Given the description of an element on the screen output the (x, y) to click on. 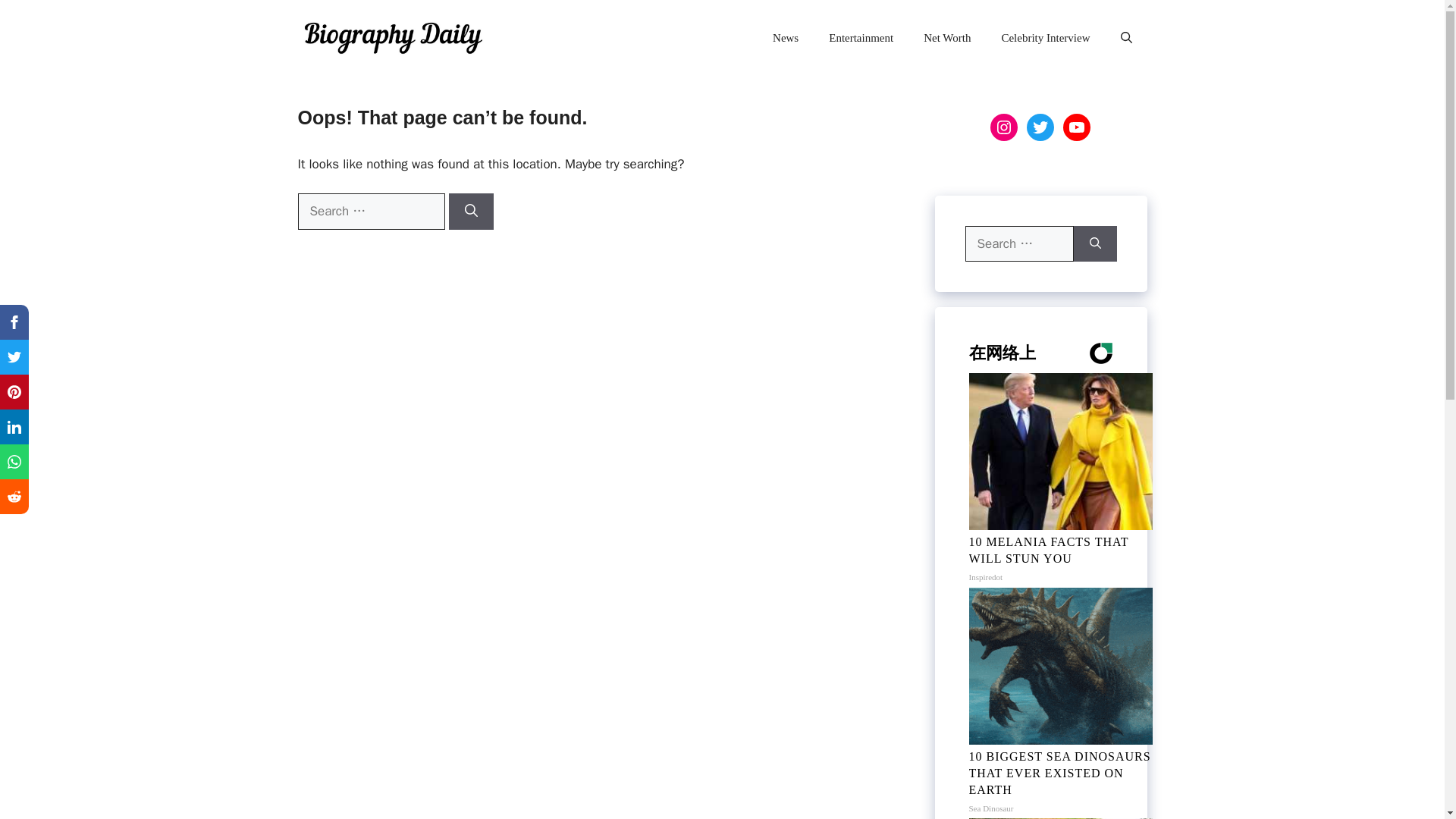
Search for: (370, 211)
News (785, 37)
Twitter (1040, 126)
Entertainment (860, 37)
Celebrity Interview (1045, 37)
Instagram (1003, 126)
Search for: (1018, 244)
YouTube (1076, 126)
Net Worth (946, 37)
